Given the description of an element on the screen output the (x, y) to click on. 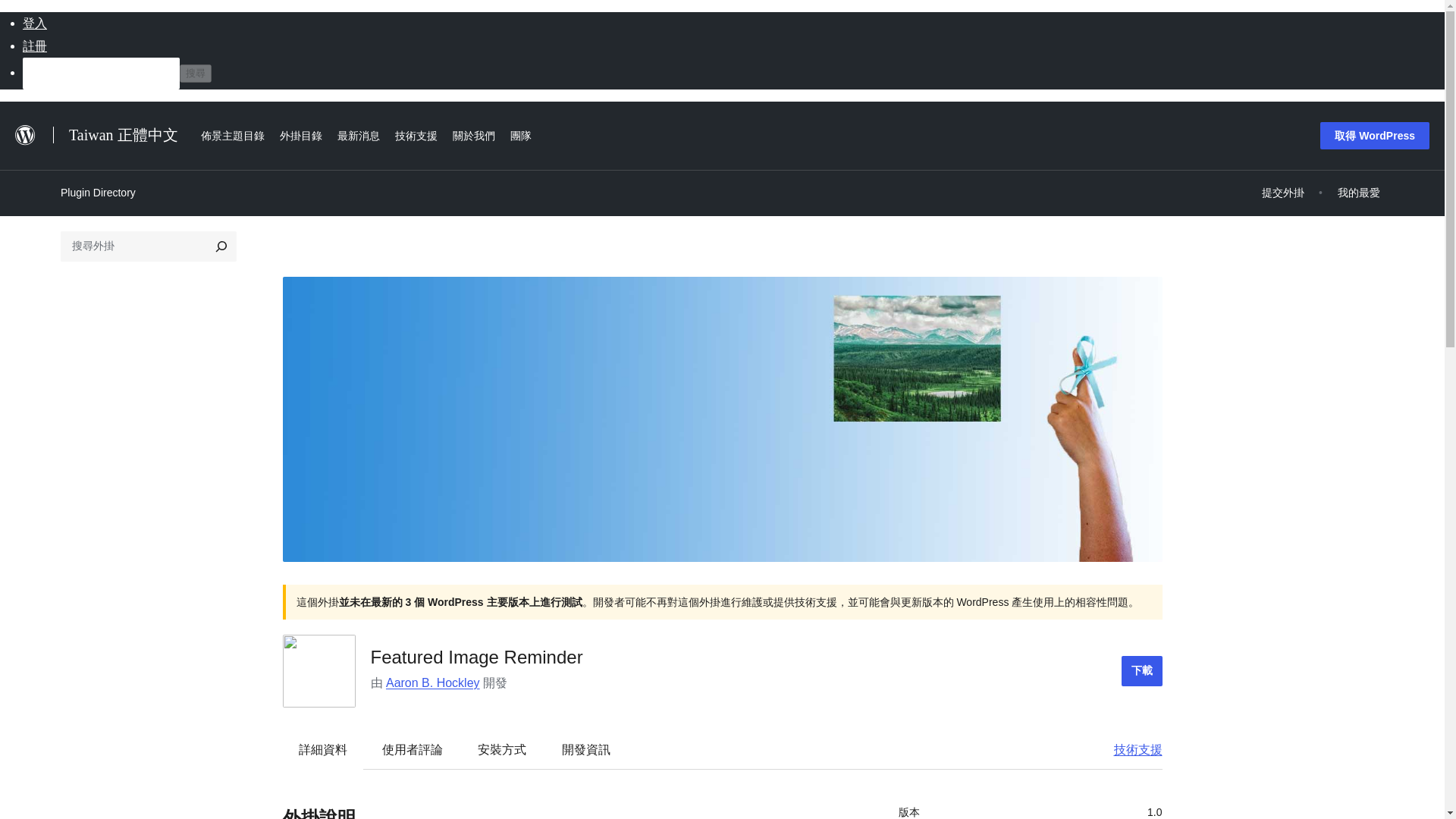
Plugin Directory (97, 192)
Aaron B. Hockley (432, 682)
